Given the description of an element on the screen output the (x, y) to click on. 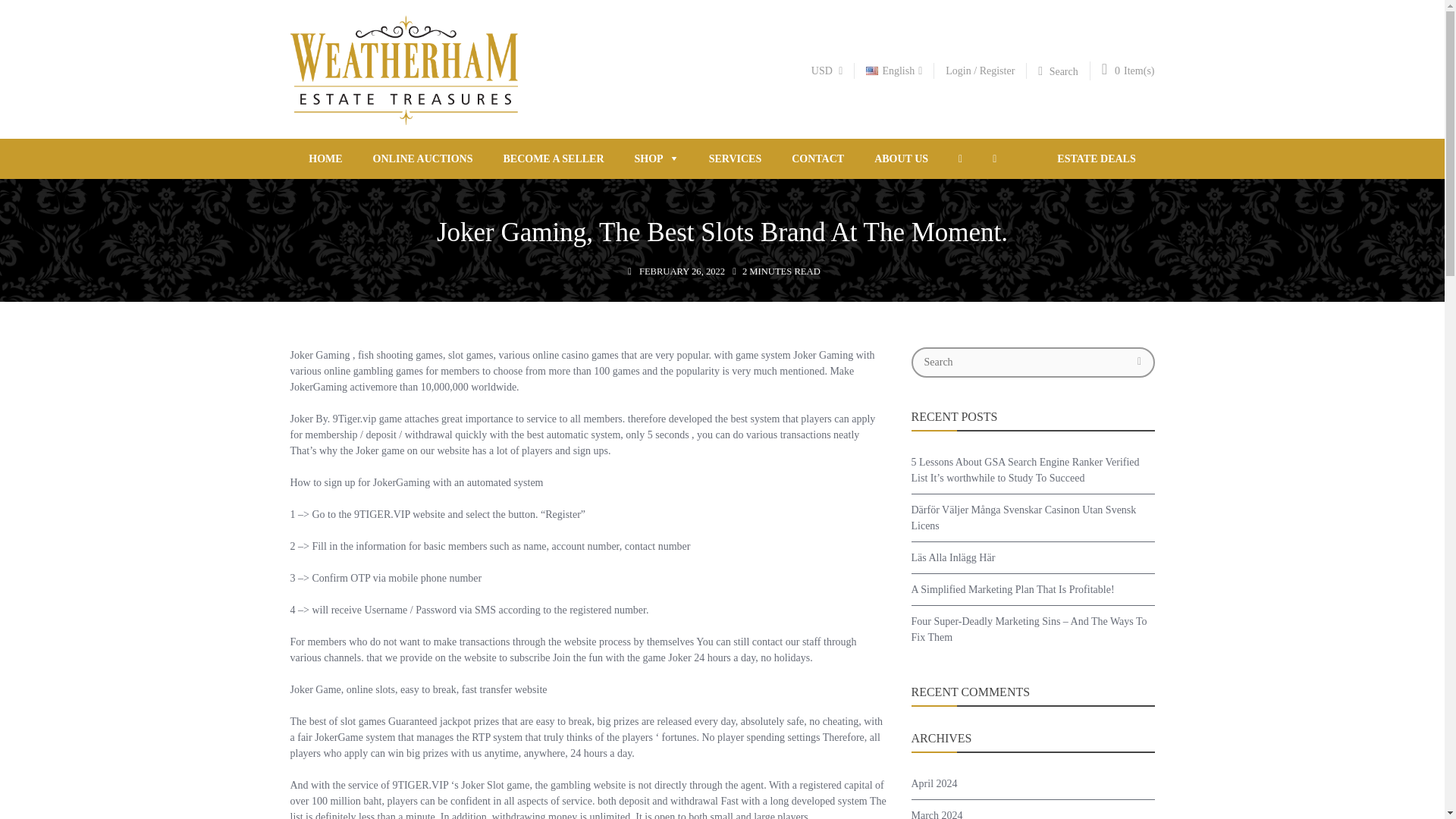
Antique and Estate Finds (402, 119)
English (893, 70)
BECOME A SELLER (552, 158)
CONTACT (817, 158)
HOME (332, 158)
ESTATE DEALS (1088, 158)
Joker Gaming, The Best Slots Brand At The Moment. (721, 232)
Search (1063, 71)
ONLINE AUCTIONS (422, 158)
View cart (1110, 68)
SHOP (657, 158)
SERVICES (735, 158)
0 (1110, 68)
ABOUT US (901, 158)
USD (826, 70)
